Given the description of an element on the screen output the (x, y) to click on. 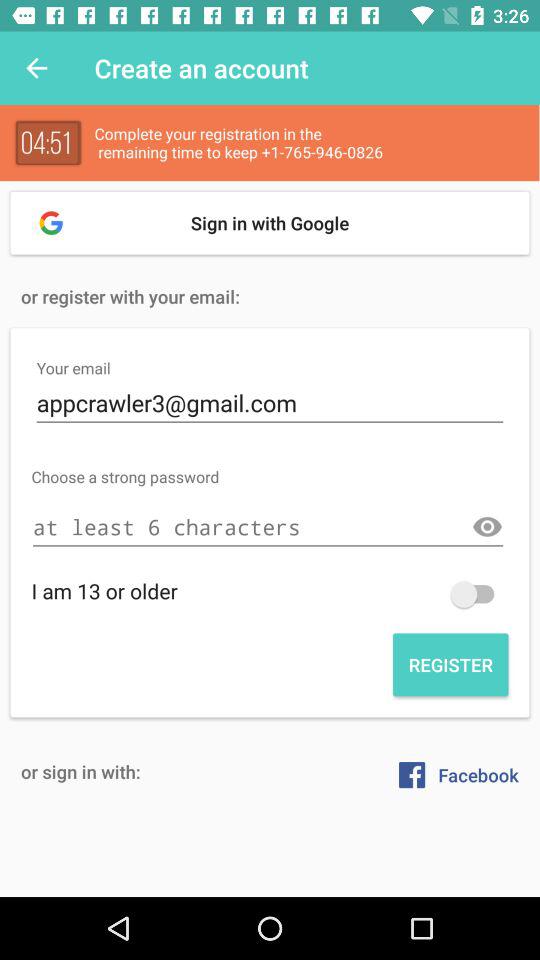
go to on (477, 594)
